Given the description of an element on the screen output the (x, y) to click on. 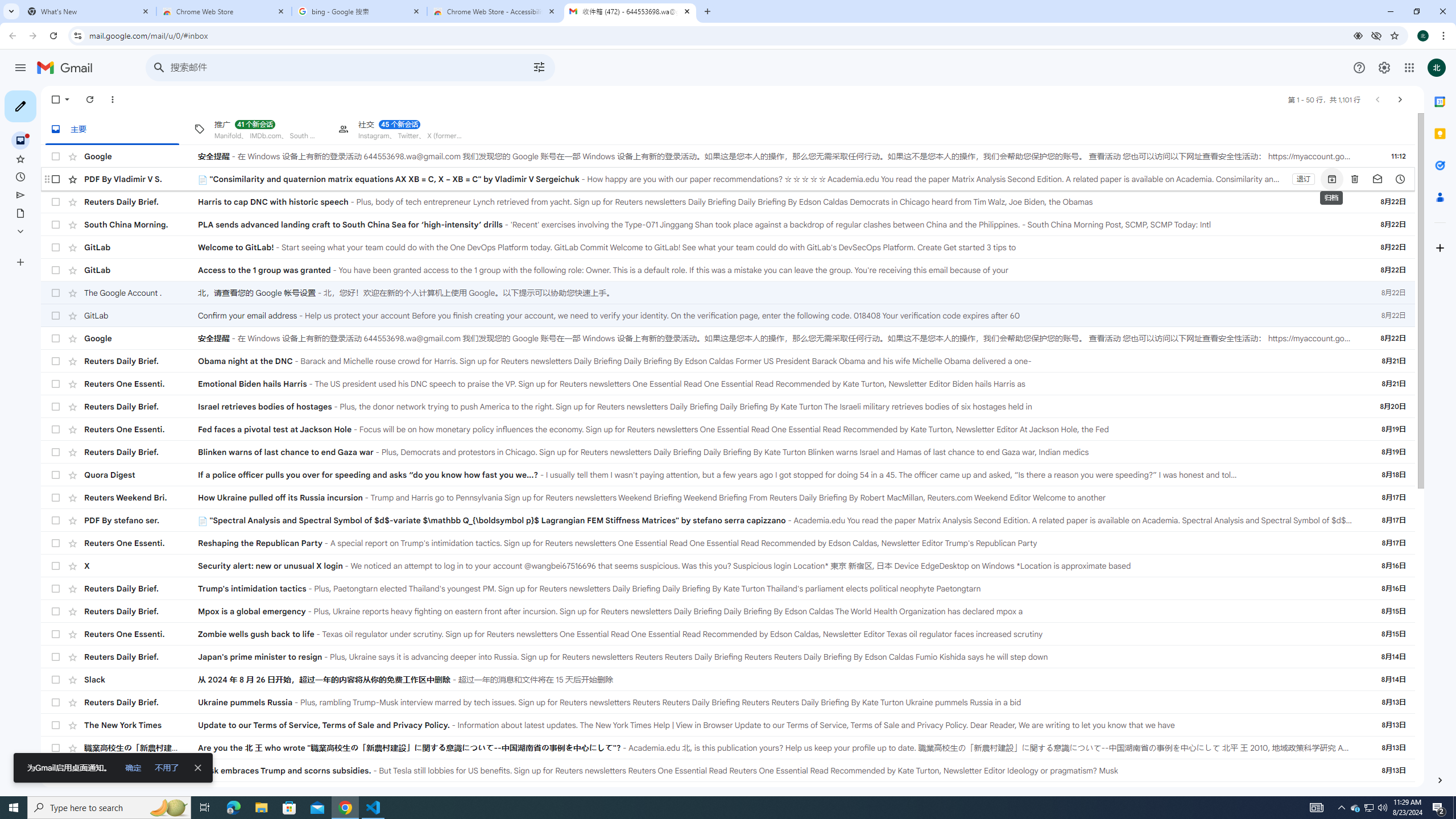
PDF By Vladimir V S. (141, 179)
